Given the description of an element on the screen output the (x, y) to click on. 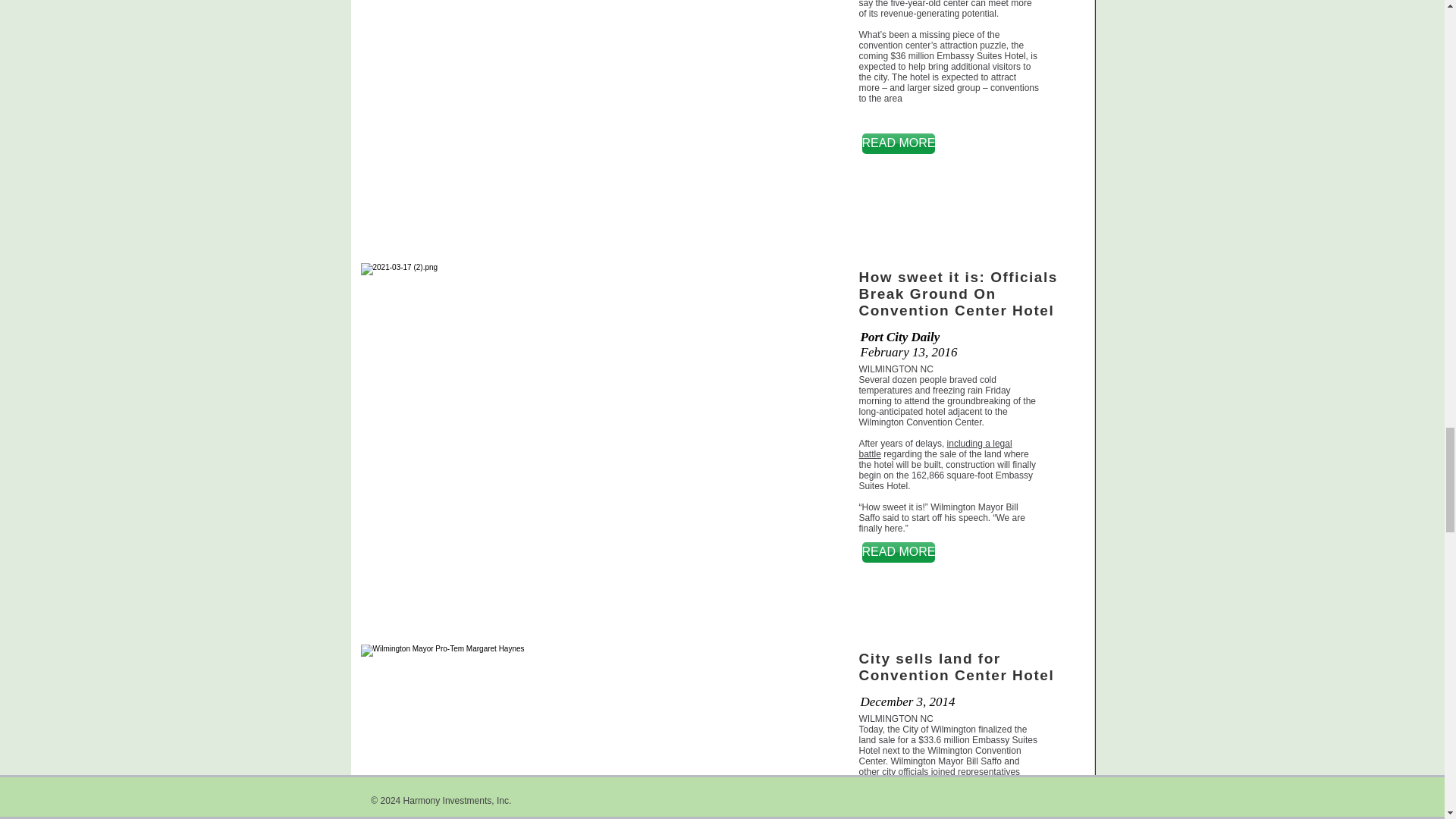
READ MORE (897, 552)
READ MORE (897, 143)
including a legal battle (935, 448)
